Given the description of an element on the screen output the (x, y) to click on. 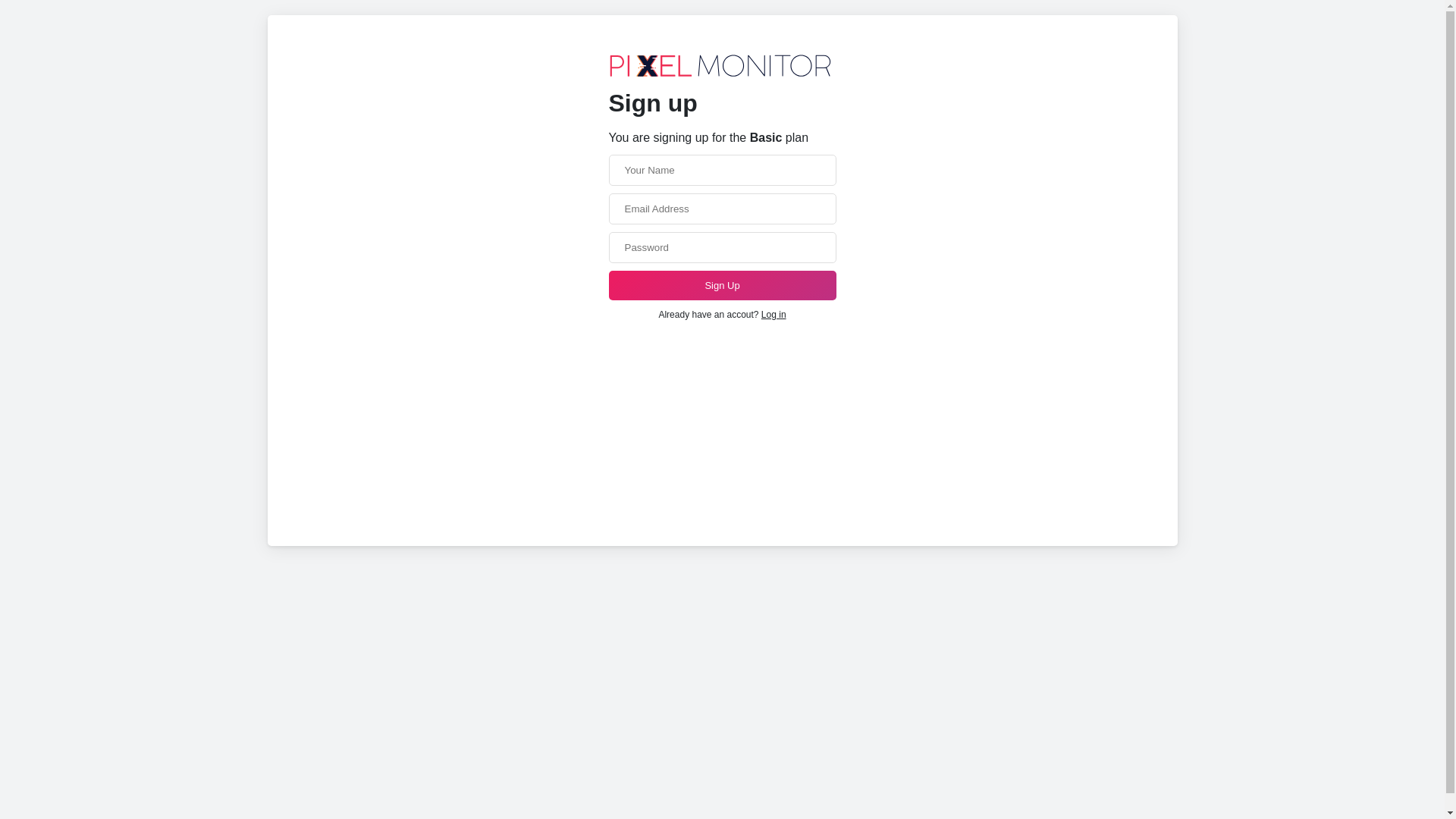
Sign Up Element type: text (721, 285)
Log in Element type: text (773, 314)
